Given the description of an element on the screen output the (x, y) to click on. 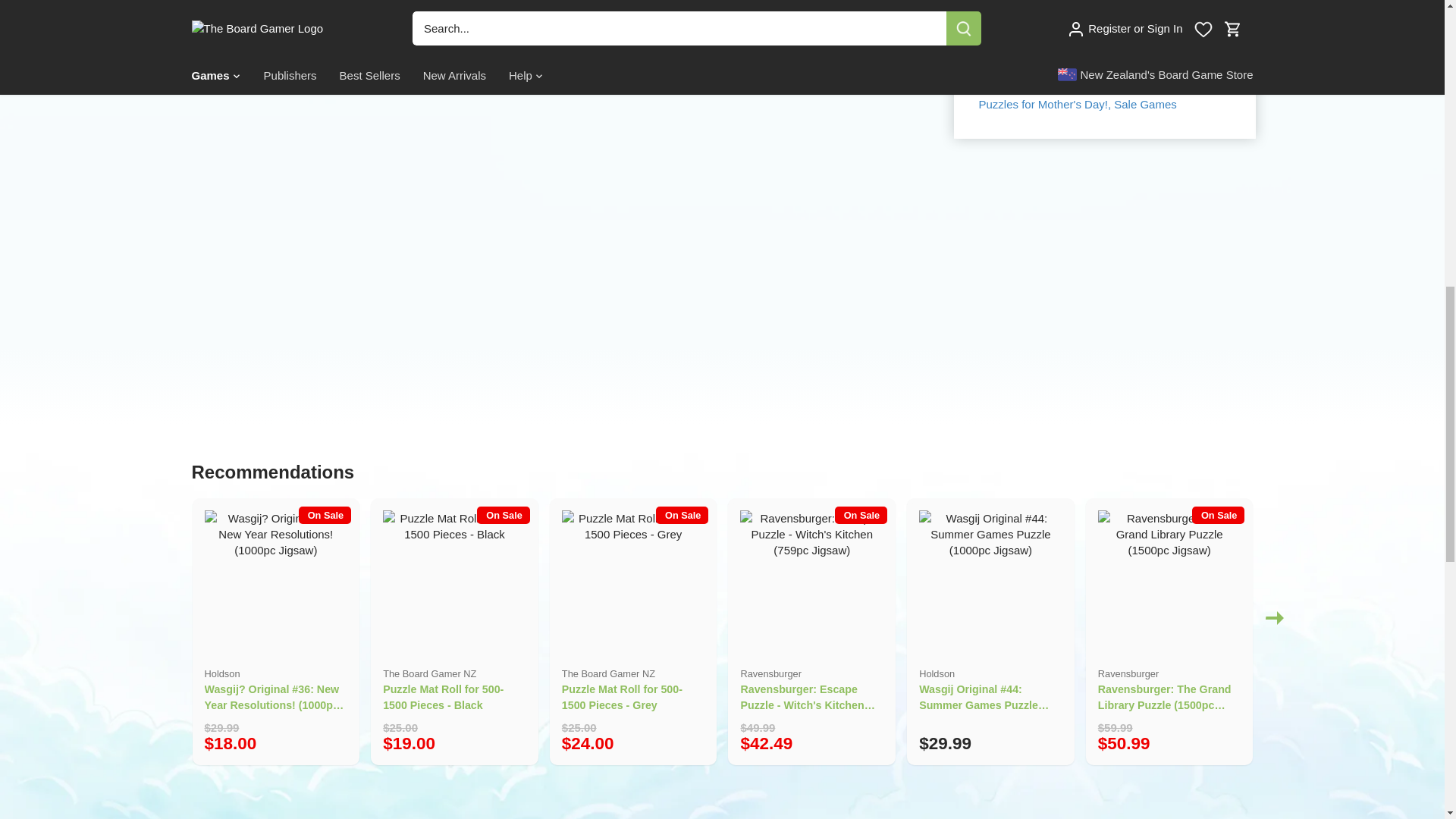
Dudley's Christmas Gift Recommendations, (1095, 76)
All Games, (1071, 67)
Puzzles, (1176, 85)
Best Sellers, (1135, 67)
